Given the description of an element on the screen output the (x, y) to click on. 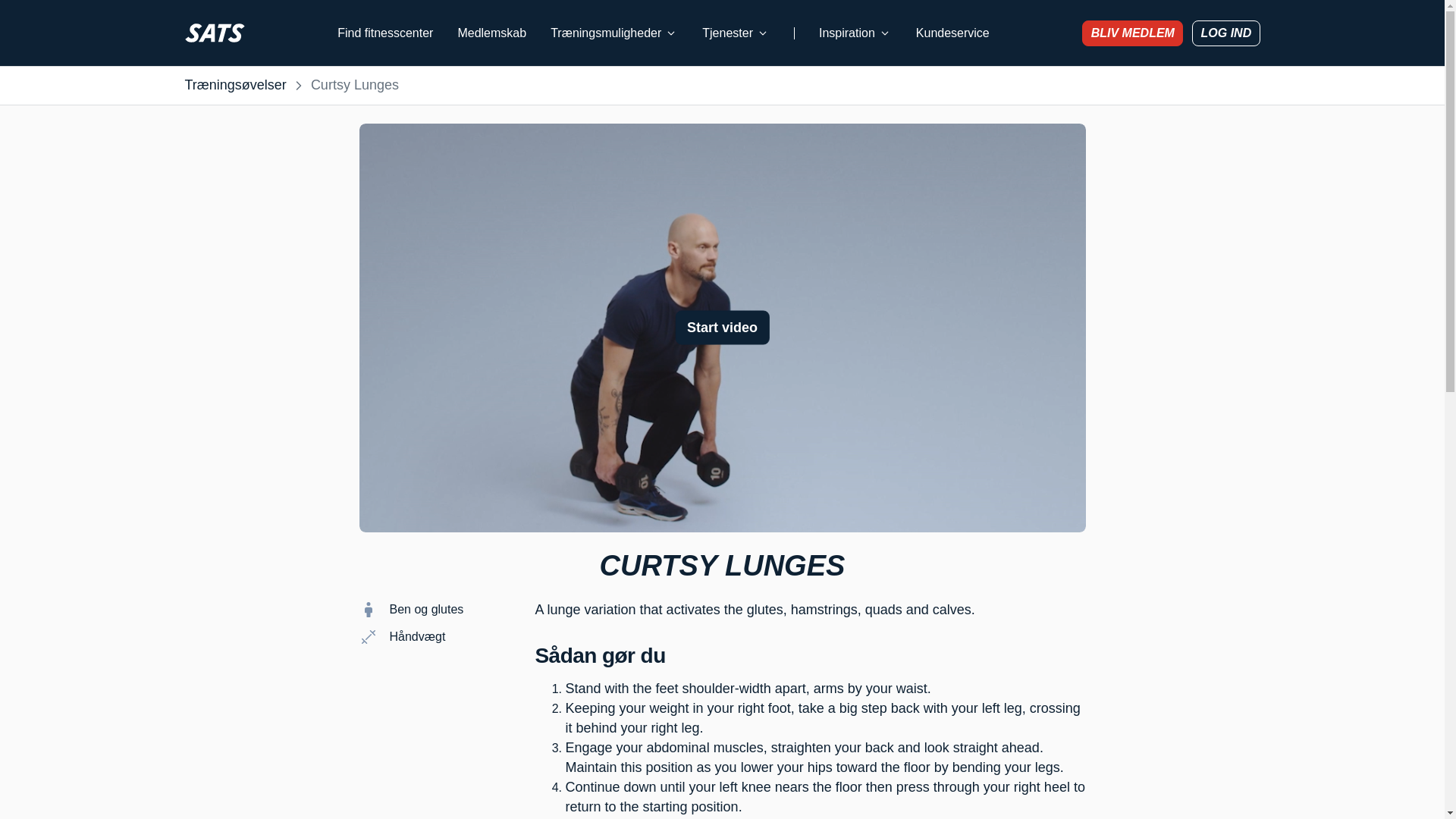
Kundeservice (952, 33)
Inspiration (854, 33)
Tjenester (735, 33)
Medlemskab (491, 33)
LOG IND (1225, 32)
Start video (722, 327)
BLIV MEDLEM (1131, 32)
Find fitnesscenter (384, 33)
